Given the description of an element on the screen output the (x, y) to click on. 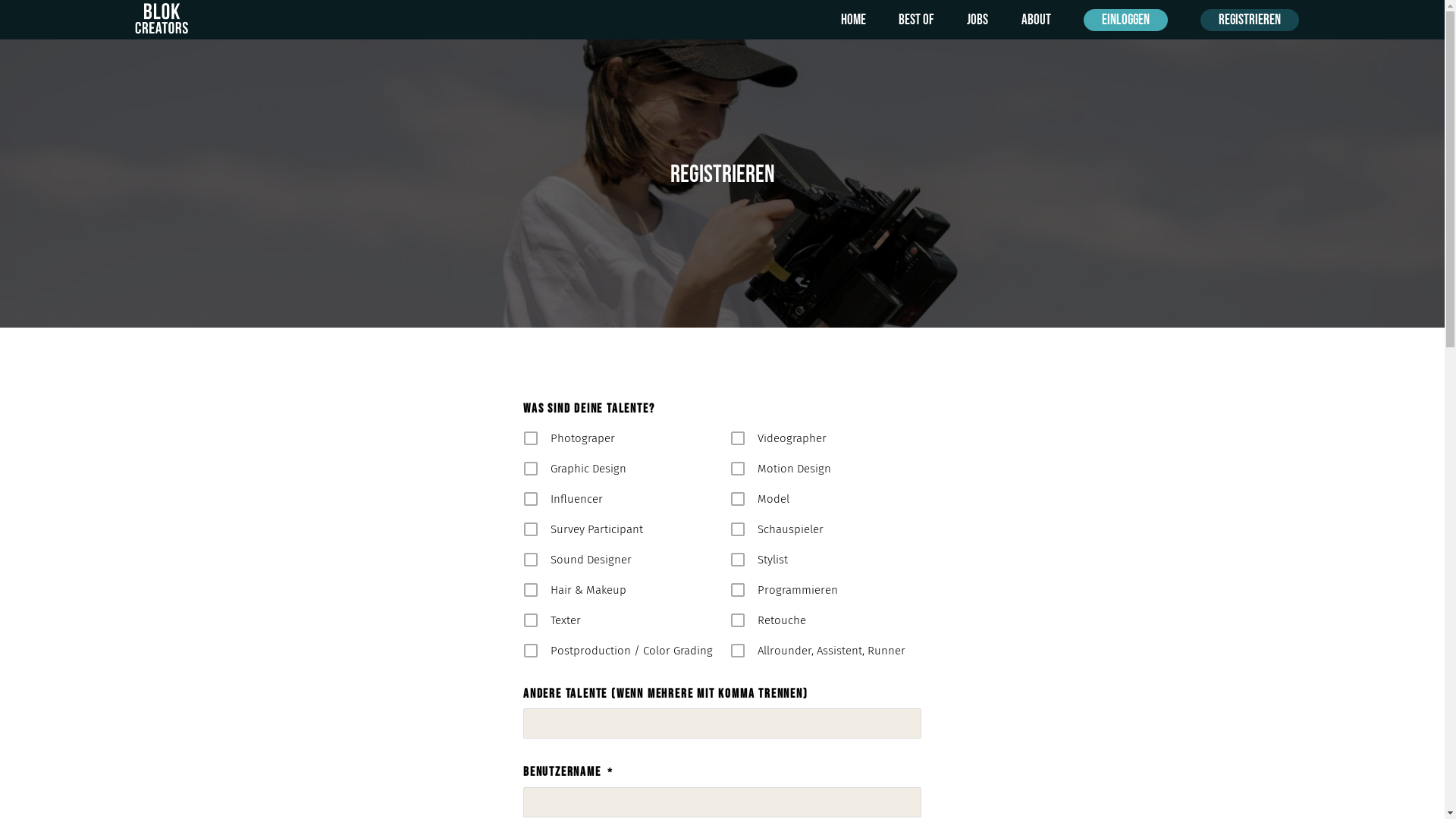
About Element type: text (1036, 19)
Registrieren Element type: text (1249, 19)
Best of Element type: text (916, 19)
Einloggen Element type: text (1125, 19)
Jobs Element type: text (977, 19)
Home Element type: text (853, 19)
